Given the description of an element on the screen output the (x, y) to click on. 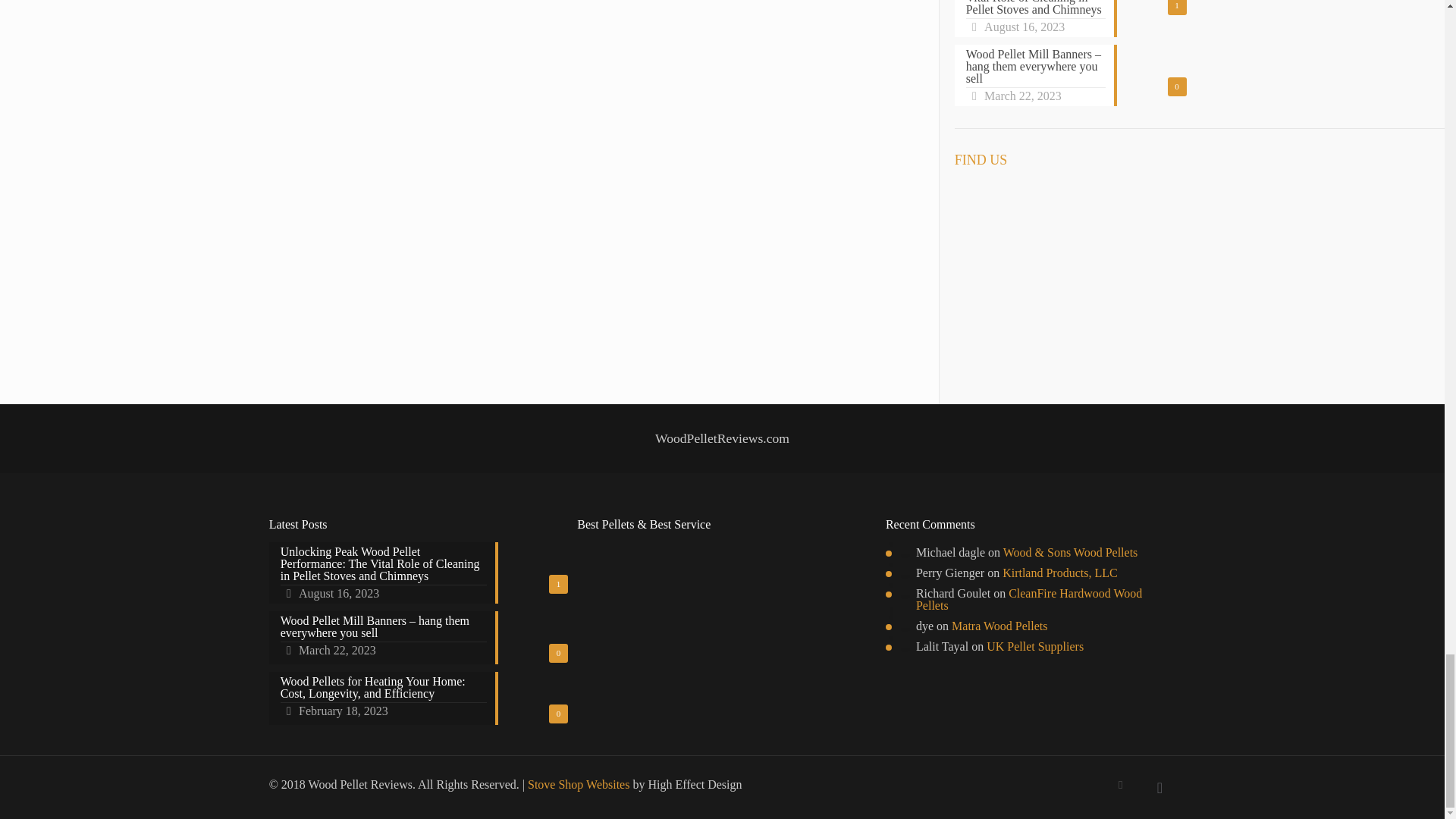
Facebook (1120, 784)
